Given the description of an element on the screen output the (x, y) to click on. 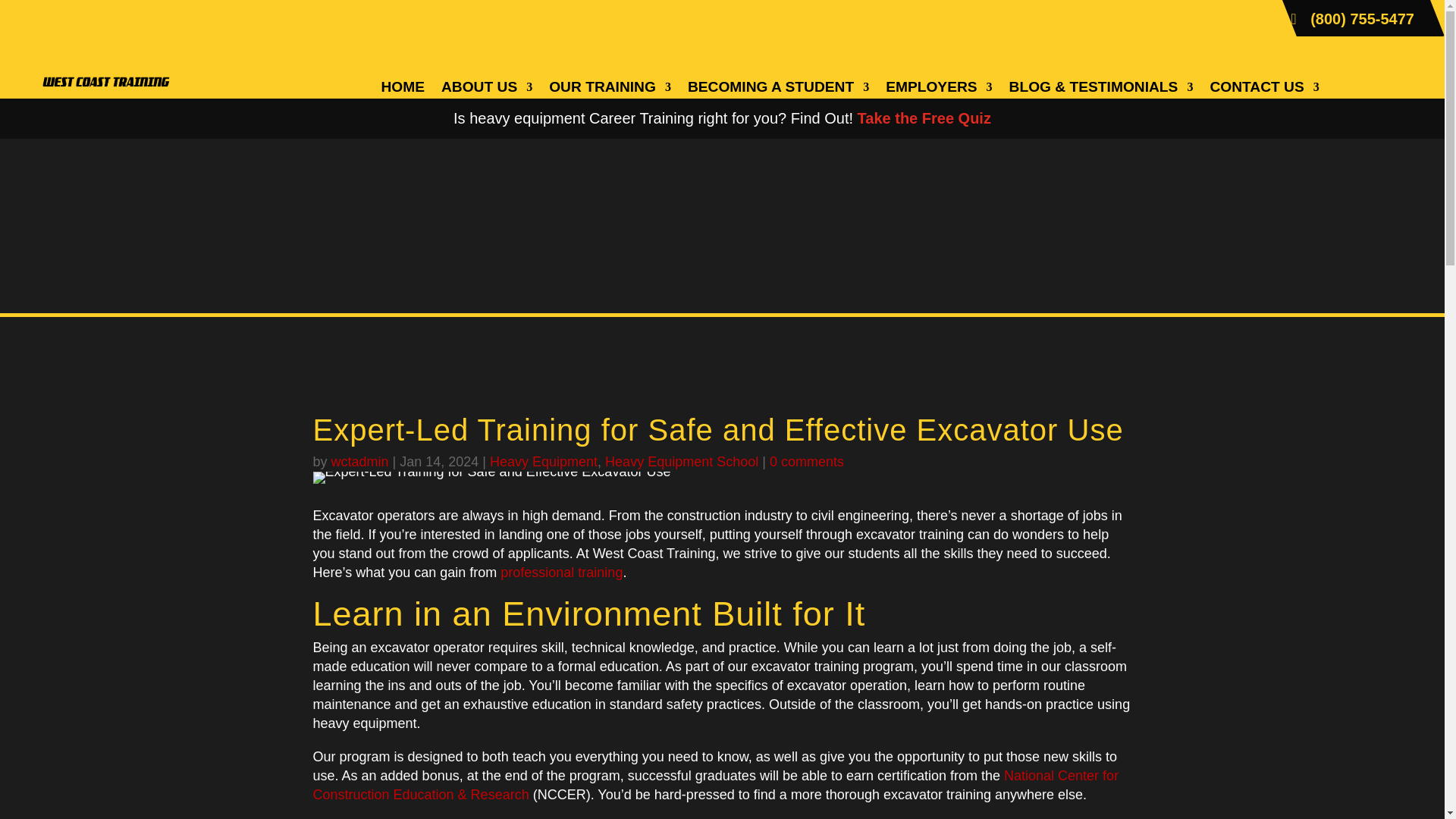
wctadmin (359, 461)
Posts by wctadmin (359, 461)
Expert-Led Training for Safe and Effective Excavator Use (491, 477)
OUR TRAINING (609, 89)
ABOUT US (486, 89)
EMPLOYERS (938, 89)
CONTACT US (1264, 89)
HOME (402, 89)
BECOMING A STUDENT (778, 89)
Take the Free Quiz (924, 117)
logo (105, 50)
